Given the description of an element on the screen output the (x, y) to click on. 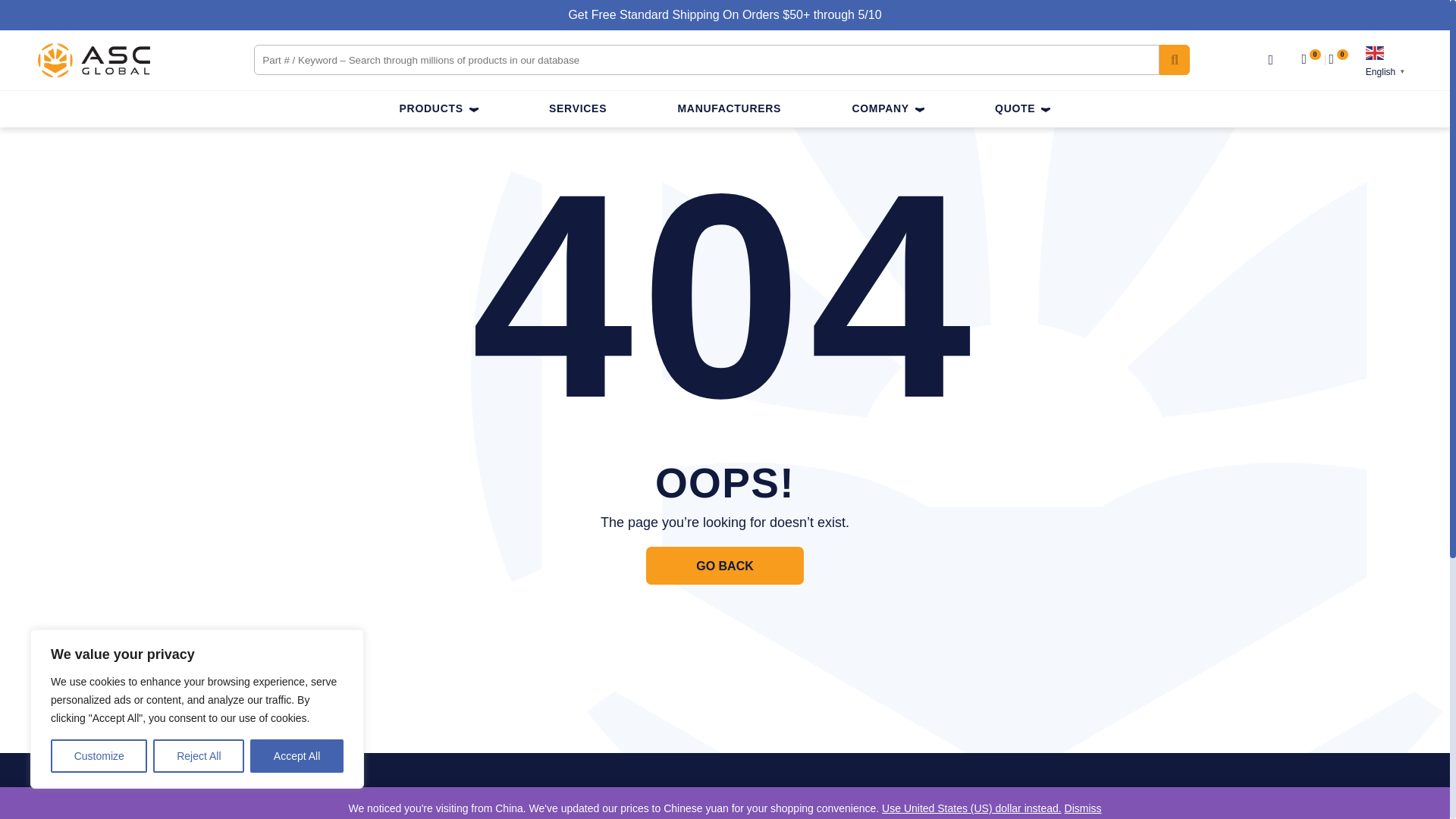
Reject All (198, 756)
0 (1336, 59)
0 (1314, 59)
Customize (98, 756)
Accept All (296, 756)
PRODUCTS (438, 111)
